Given the description of an element on the screen output the (x, y) to click on. 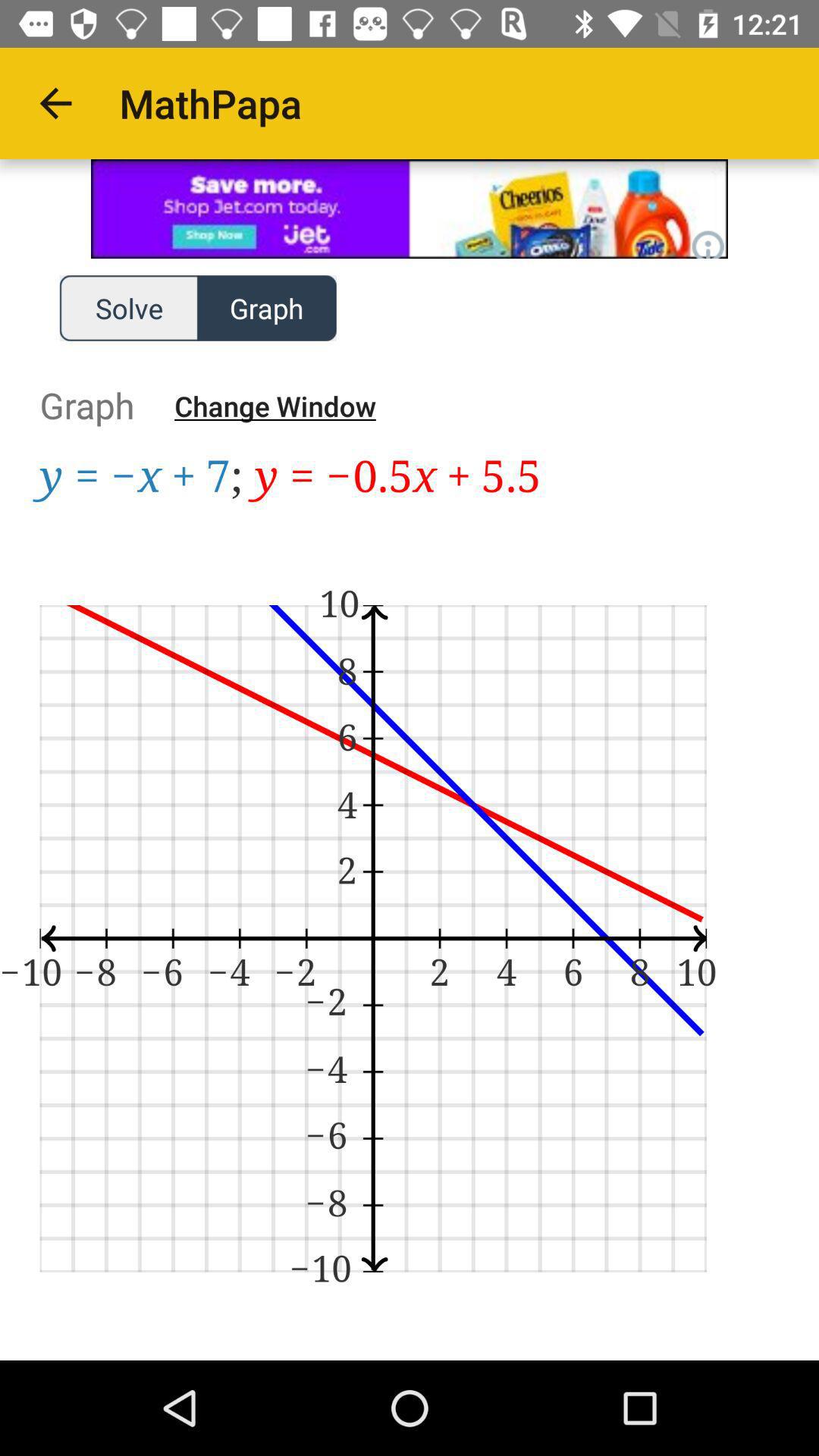
display field (409, 906)
